Given the description of an element on the screen output the (x, y) to click on. 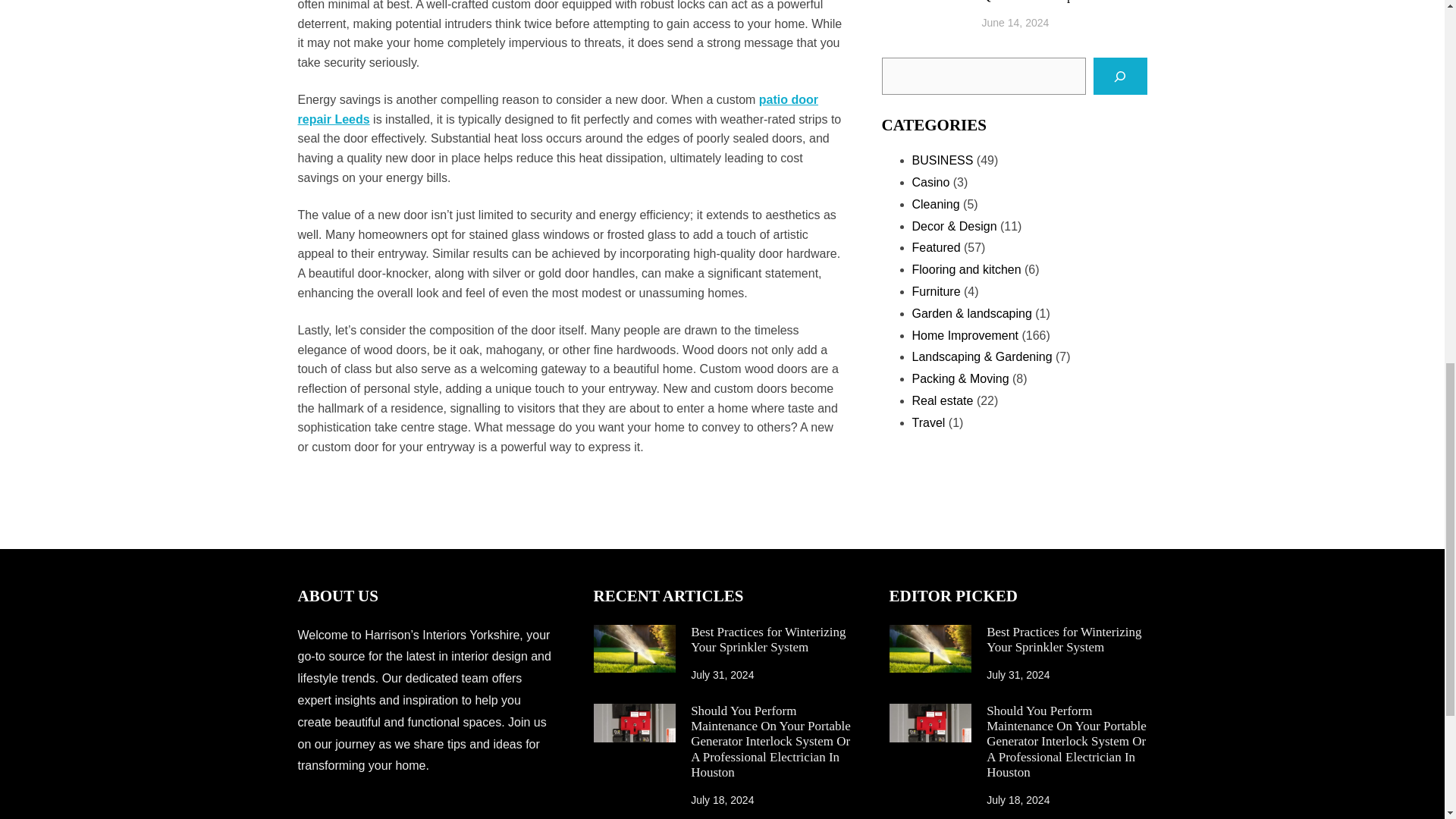
We Buy Houses in Michigan: Quick and Transparent Sales (1064, 2)
Cleaning (935, 204)
Home Improvement (964, 335)
Casino (930, 182)
Real estate (941, 400)
BUSINESS (941, 160)
Furniture (935, 291)
Featured (935, 246)
patio door repair Leeds (557, 109)
Flooring and kitchen (965, 269)
